Given the description of an element on the screen output the (x, y) to click on. 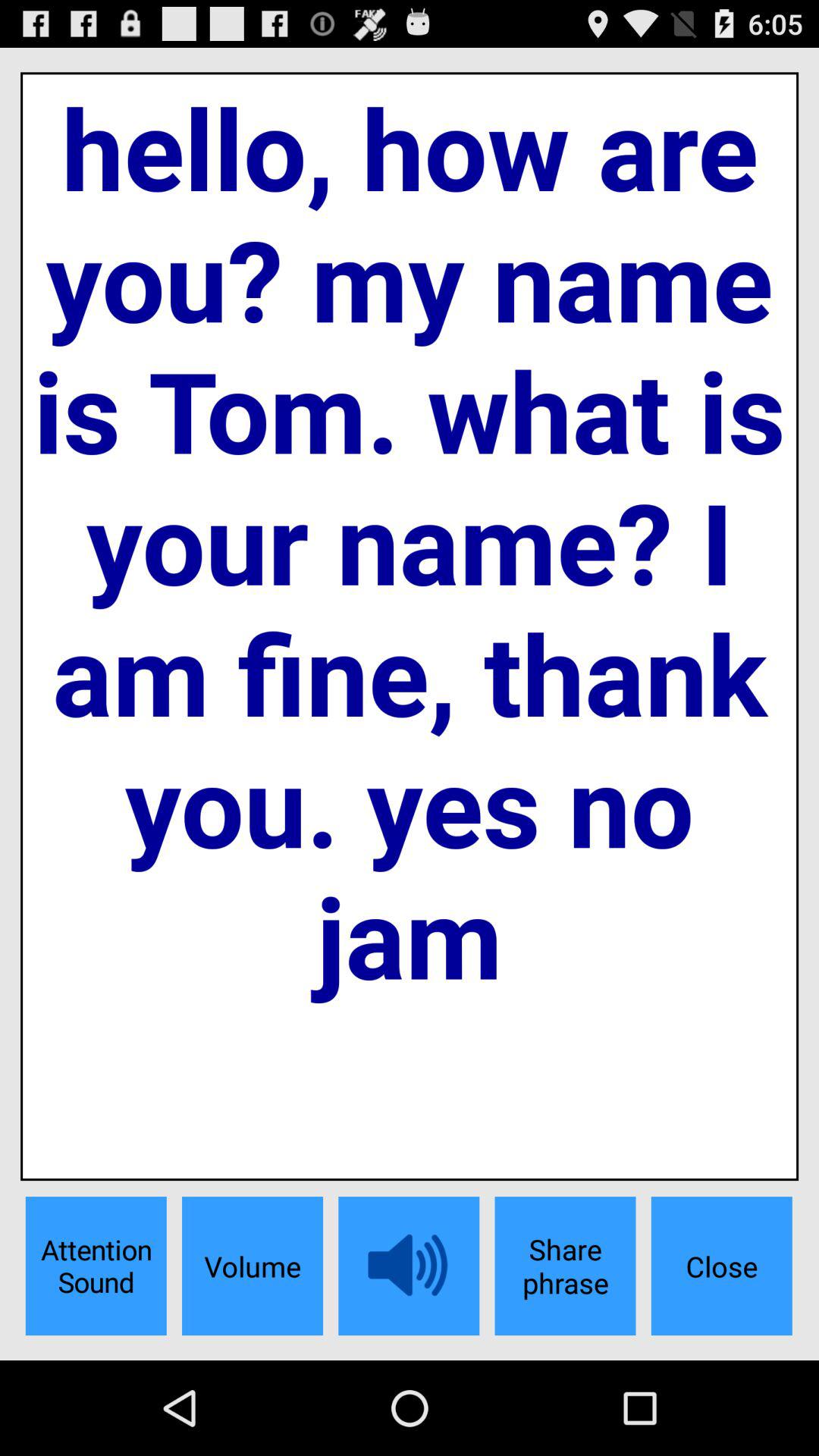
press volume (252, 1265)
